Given the description of an element on the screen output the (x, y) to click on. 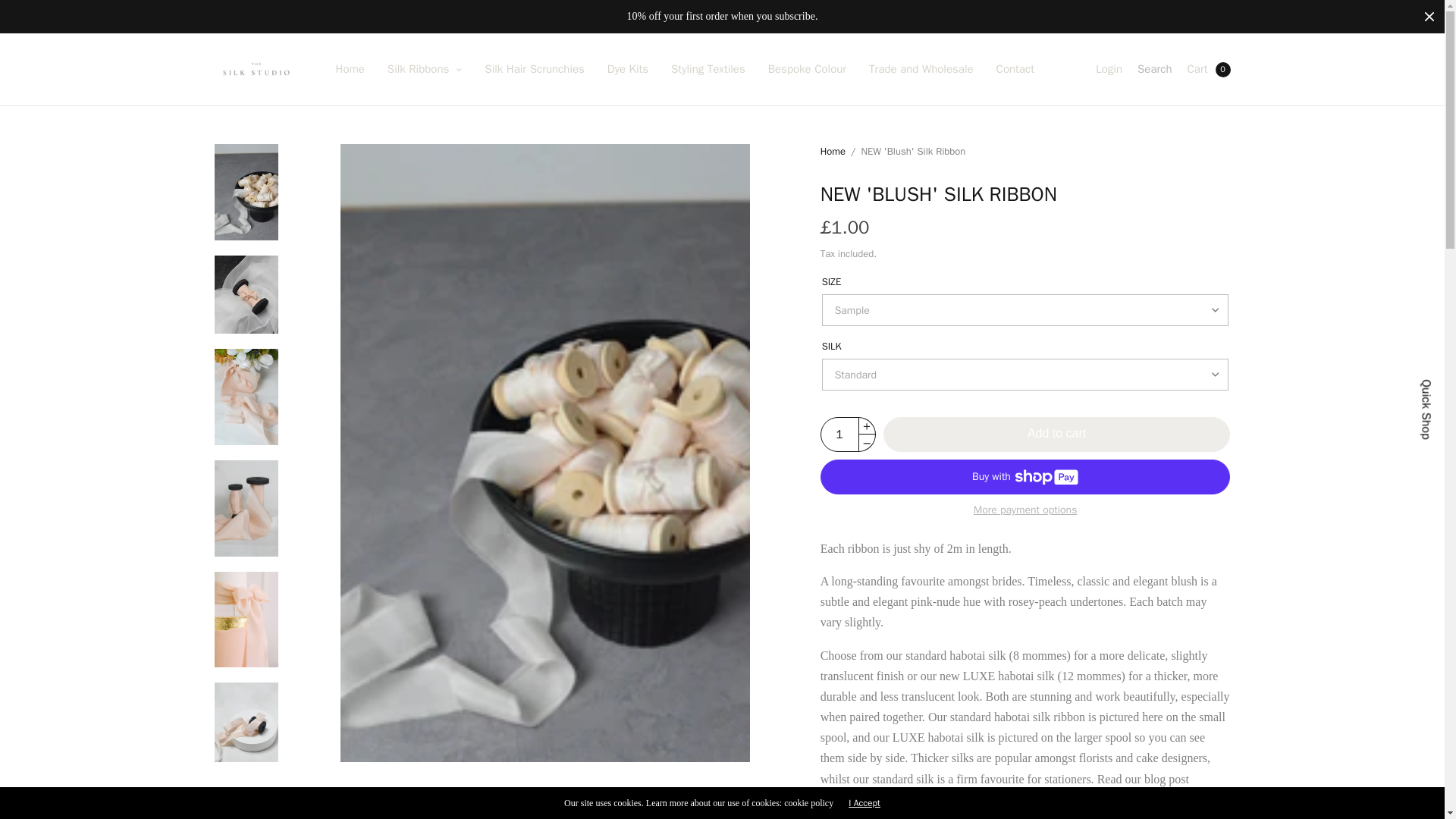
Styling Textiles (708, 69)
Trade and Wholesale (921, 69)
Silk Hair Scrunchies (534, 69)
Home (349, 69)
Search (1154, 69)
Trade and Wholesale (921, 69)
Contact (1014, 69)
Silk Hair Scrunchies (534, 69)
Silk Ribbons (424, 69)
Styling Textiles (708, 69)
Dye Kits (627, 69)
Home (349, 69)
Contact (1014, 69)
Silk Ribbons (424, 69)
1 (840, 434)
